Given the description of an element on the screen output the (x, y) to click on. 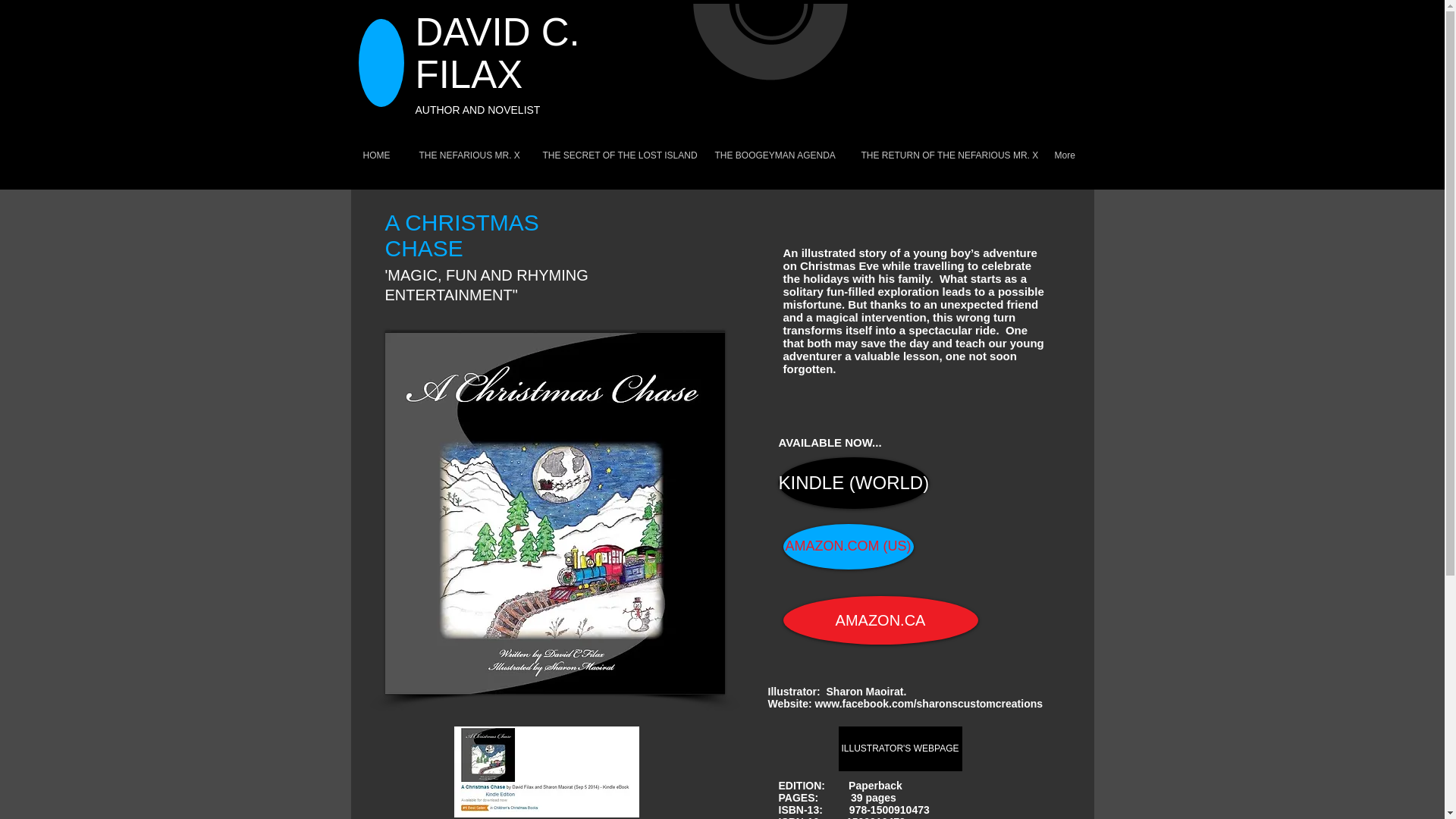
ILLUSTRATOR'S WEBPAGE (900, 748)
THE BOOGEYMAN AGENDA (776, 155)
THE SECRET OF THE LOST ISLAND (617, 155)
HOME (379, 155)
THE RETURN OF THE NEFARIOUS MR. X (945, 155)
THE NEFARIOUS MR. X (469, 155)
AChristmasChase-FullCover.jpg (555, 512)
AMAZON.CA (879, 620)
